Given the description of an element on the screen output the (x, y) to click on. 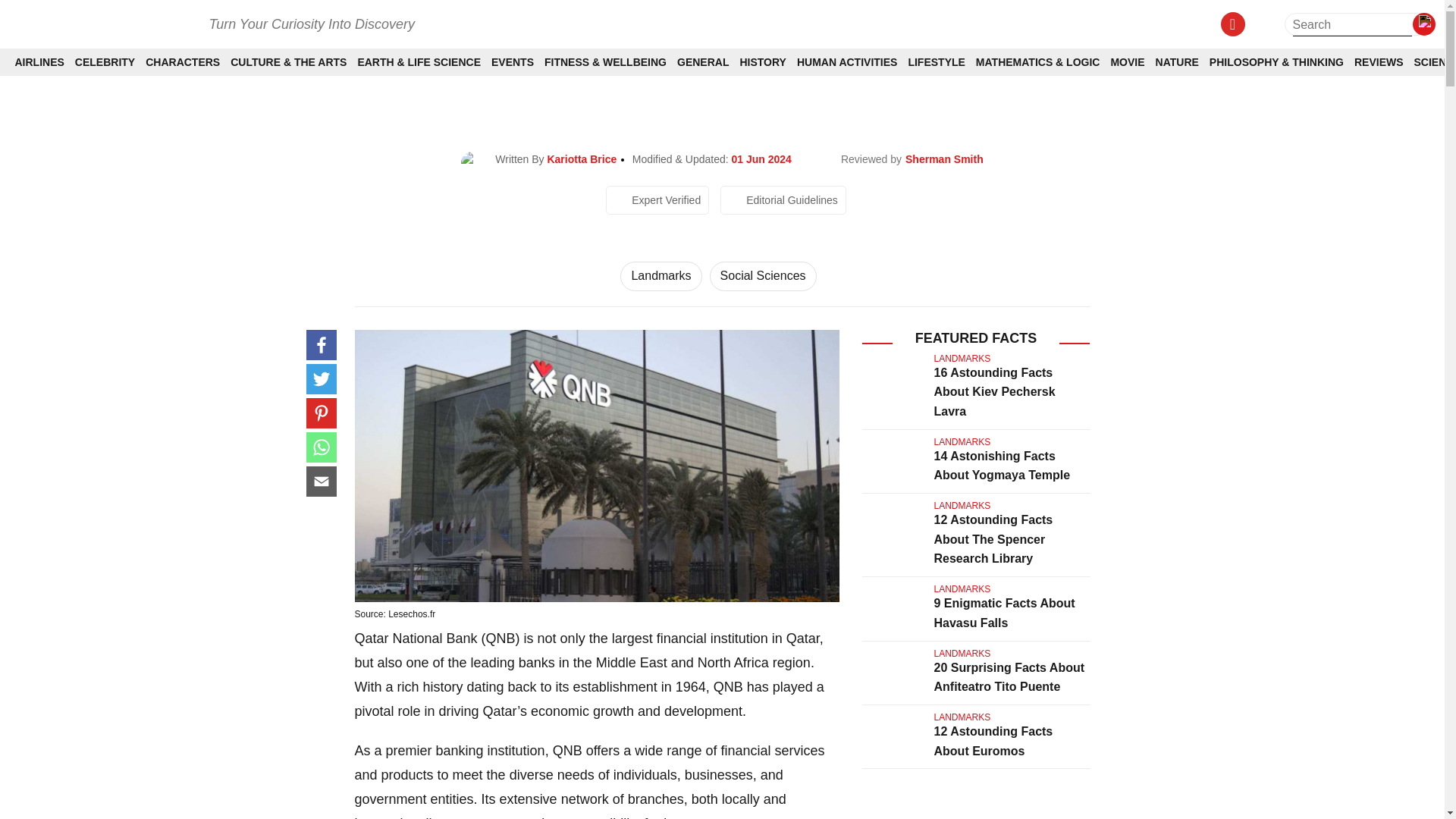
CELEBRITY (105, 62)
EVENTS (513, 62)
LIFESTYLE (935, 62)
GENERAL (703, 62)
CHARACTERS (182, 62)
AIRLINES (39, 62)
Facts.net (100, 23)
HUMAN ACTIVITIES (846, 62)
HISTORY (762, 62)
